Given the description of an element on the screen output the (x, y) to click on. 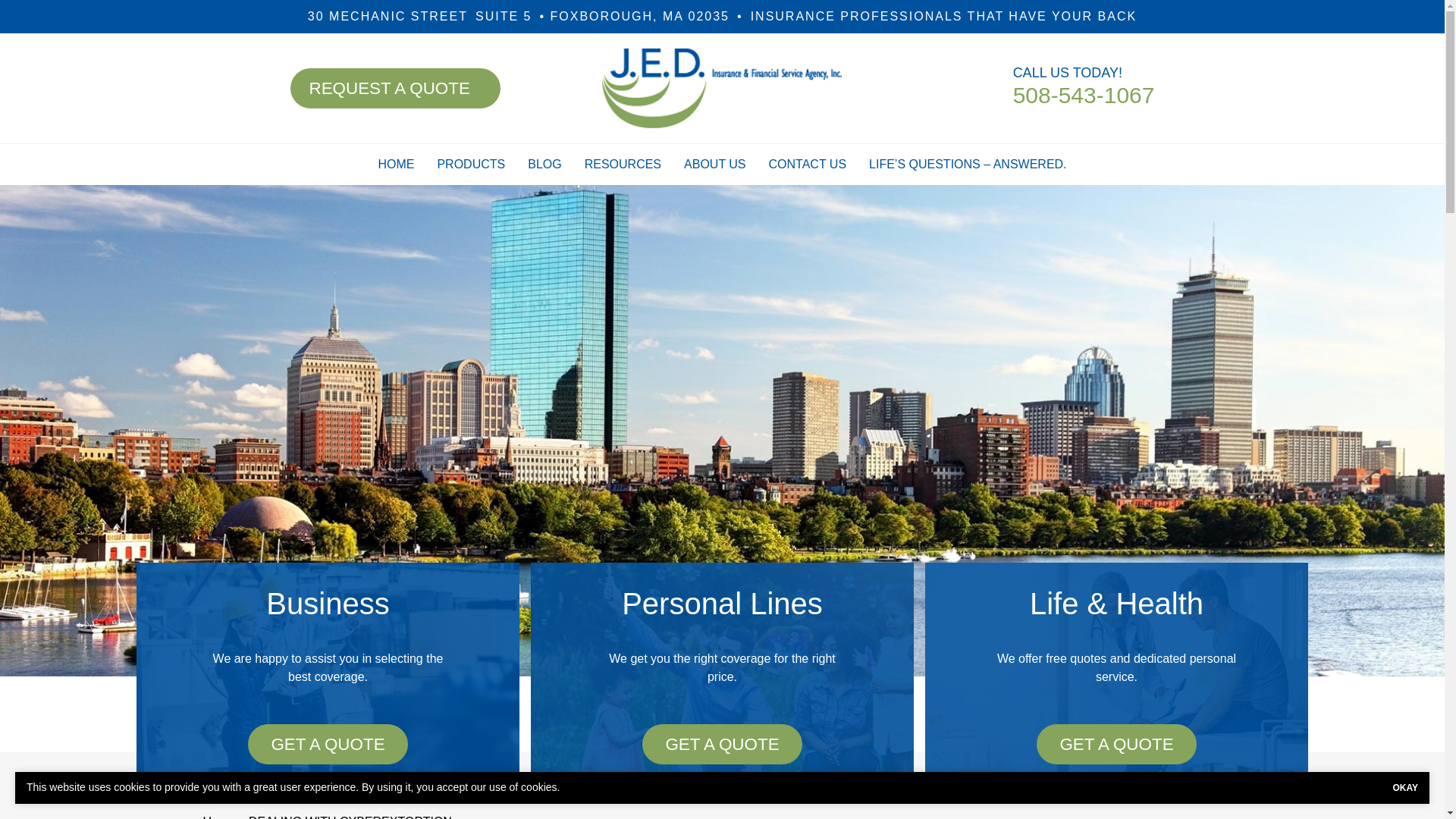
RESOURCES (521, 16)
508-543-1067 (622, 164)
ABOUT US (1083, 94)
BLOG (714, 164)
PRODUCTS (544, 164)
REQUEST A QUOTE (470, 164)
HOME (394, 87)
GET A QUOTE (395, 164)
CONTACT US (327, 743)
